Given the description of an element on the screen output the (x, y) to click on. 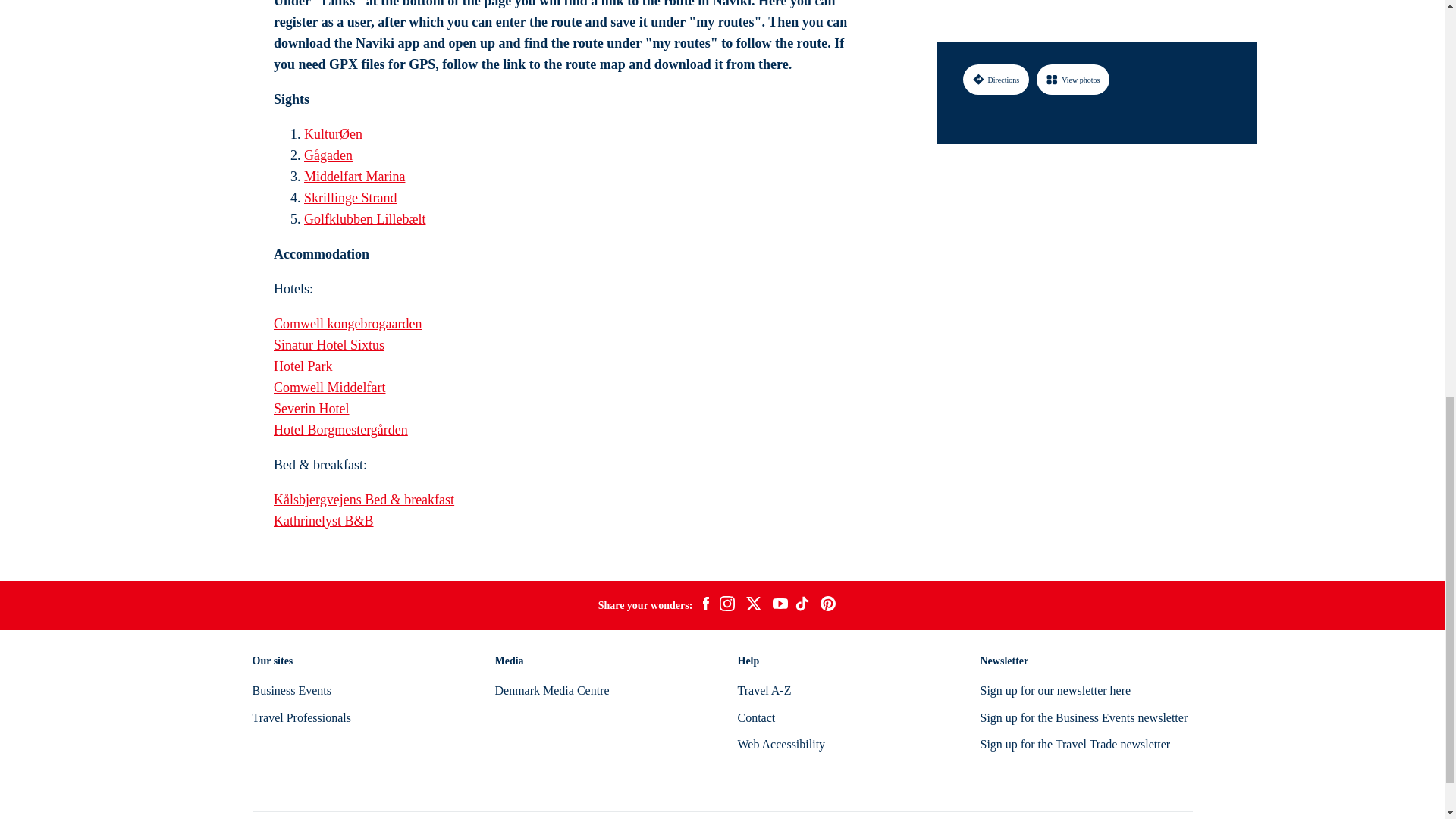
Travel A-Z (763, 689)
Travel A-Z (763, 689)
Middelfart Marina (354, 176)
Sinatur Hotel Sixtus (328, 344)
Severin Hotel (311, 408)
Comwell Middelfart (329, 387)
Hotel Park (302, 365)
Business Events (290, 689)
Business Events (290, 689)
youtube (780, 605)
Skrillinge Strand (350, 197)
Travel Professionals (300, 717)
Contact (755, 717)
Comwell kongebrogaarden (347, 323)
Denmark Media Centre (551, 689)
